Given the description of an element on the screen output the (x, y) to click on. 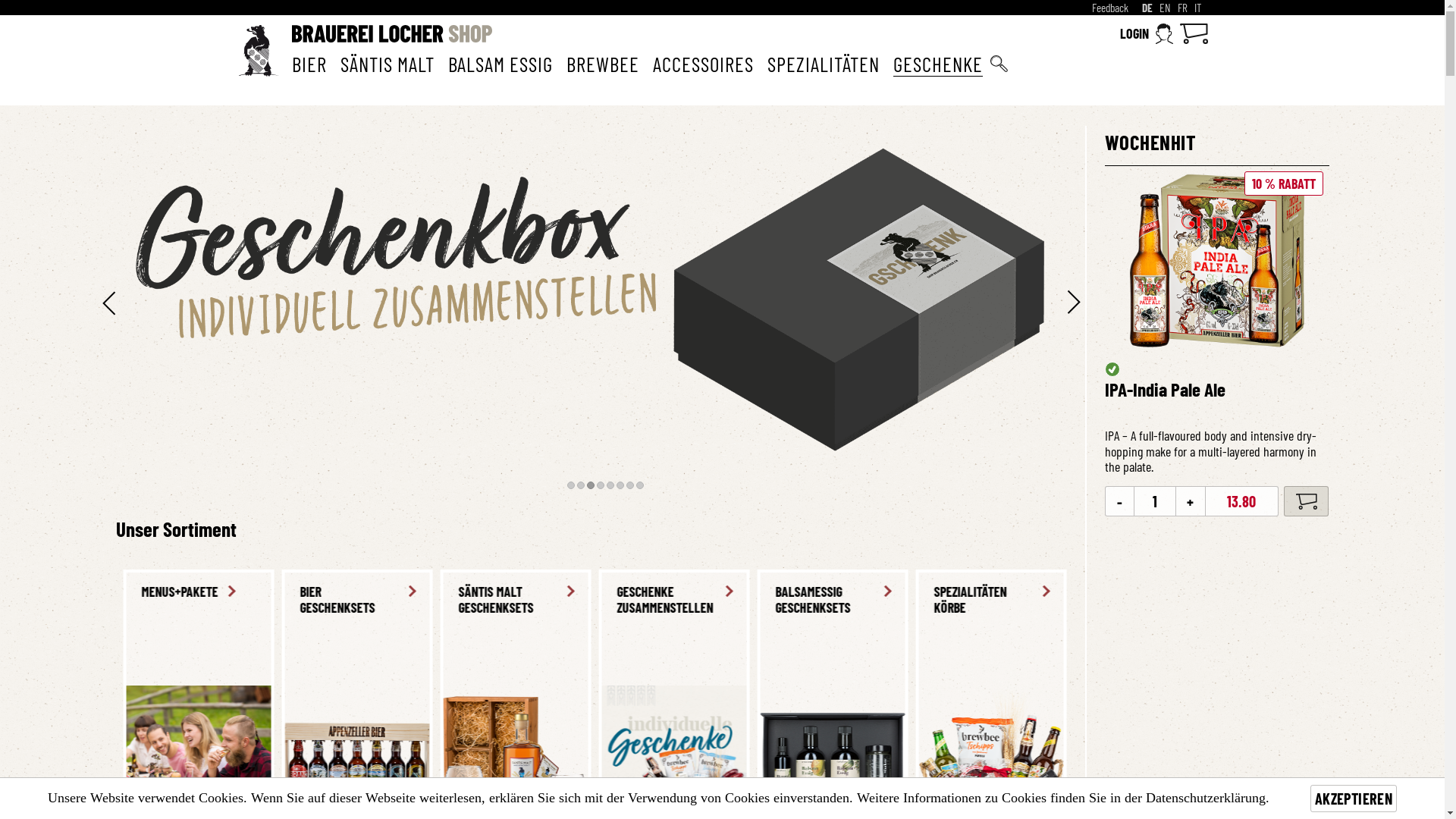
FR Element type: text (1181, 7)
- Element type: text (1119, 501)
MENUS+PAKETE Element type: text (975, 591)
BREWBEE Element type: text (601, 63)
BIER Element type: text (308, 63)
TEXTILIEN Element type: text (824, 591)
AKZEPTIEREN Element type: text (1353, 798)
+ Element type: text (1190, 501)
BALSAMESSIG GESCHENKSETS Element type: text (190, 599)
GUTSCHEINE Element type: text (666, 591)
BIER GESCHENKSETS Element type: text (1117, 599)
BALSAM ESSIG Element type: text (499, 63)
Feedback Element type: text (1110, 7)
LOGIN Element type: text (1146, 33)
BIER HARASS ZUSAMMENSTELLEN Element type: text (507, 599)
IT Element type: text (1196, 7)
ACCESSOIRES Element type: text (702, 63)
EN Element type: text (1164, 7)
